Given the description of an element on the screen output the (x, y) to click on. 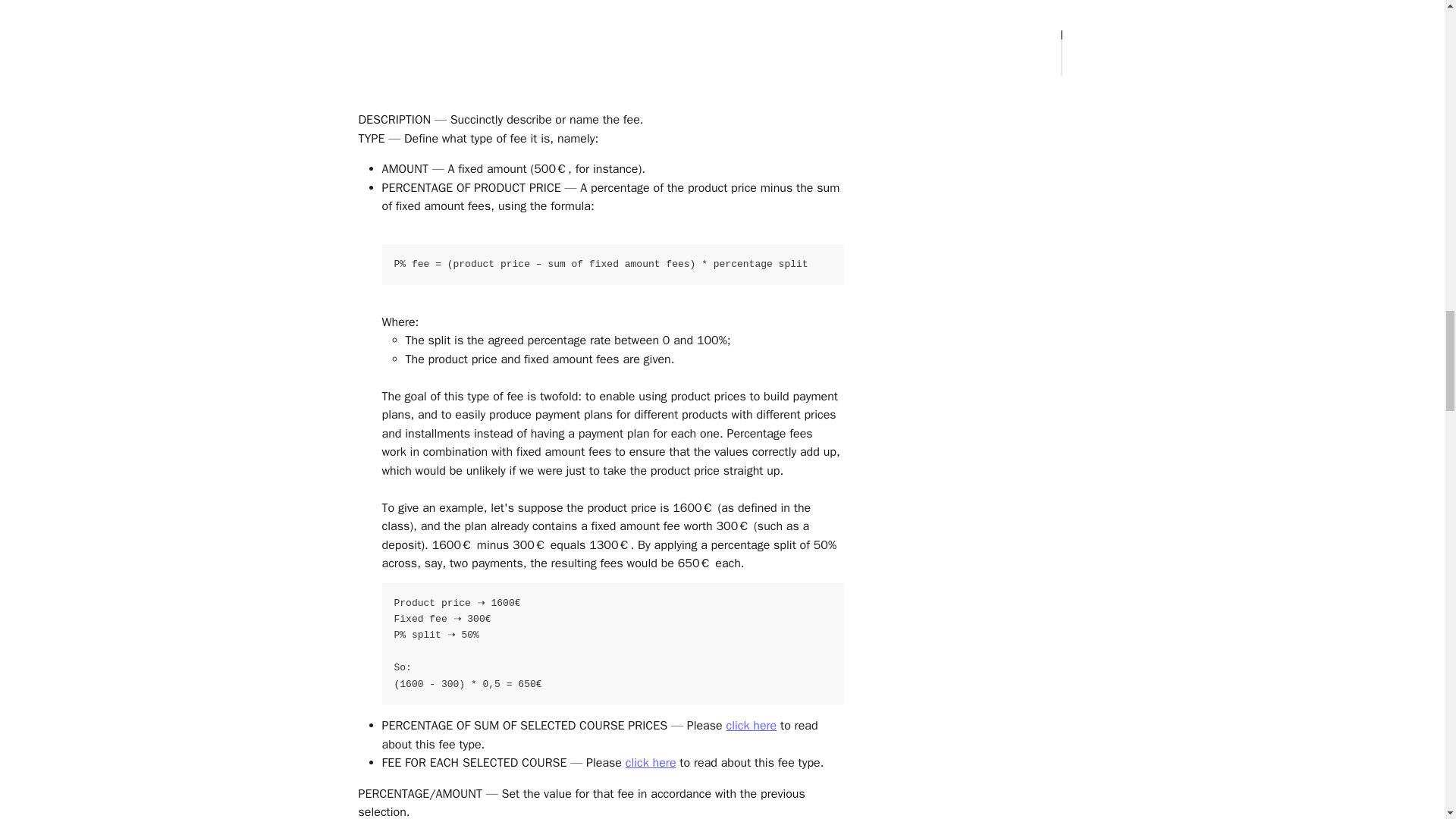
click here (651, 762)
click here (750, 725)
